Given the description of an element on the screen output the (x, y) to click on. 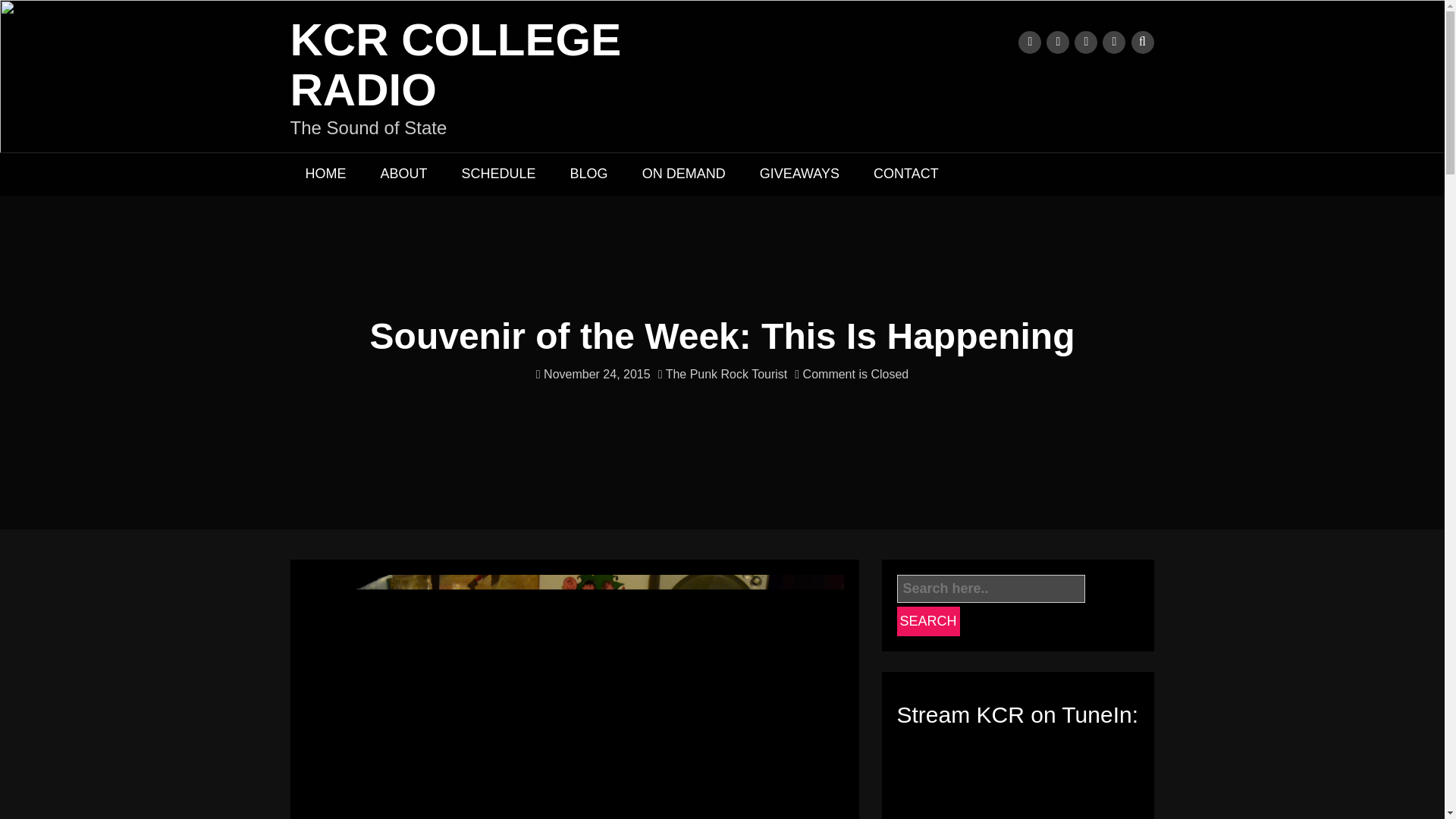
HOME (325, 174)
Instagram (1085, 42)
Youtube (1057, 42)
Search for: (990, 588)
ABOUT (403, 174)
November 24, 2015 (592, 373)
SCHEDULE (498, 174)
Search (927, 621)
GIVEAWAYS (799, 174)
Twitter (1029, 42)
